Given the description of an element on the screen output the (x, y) to click on. 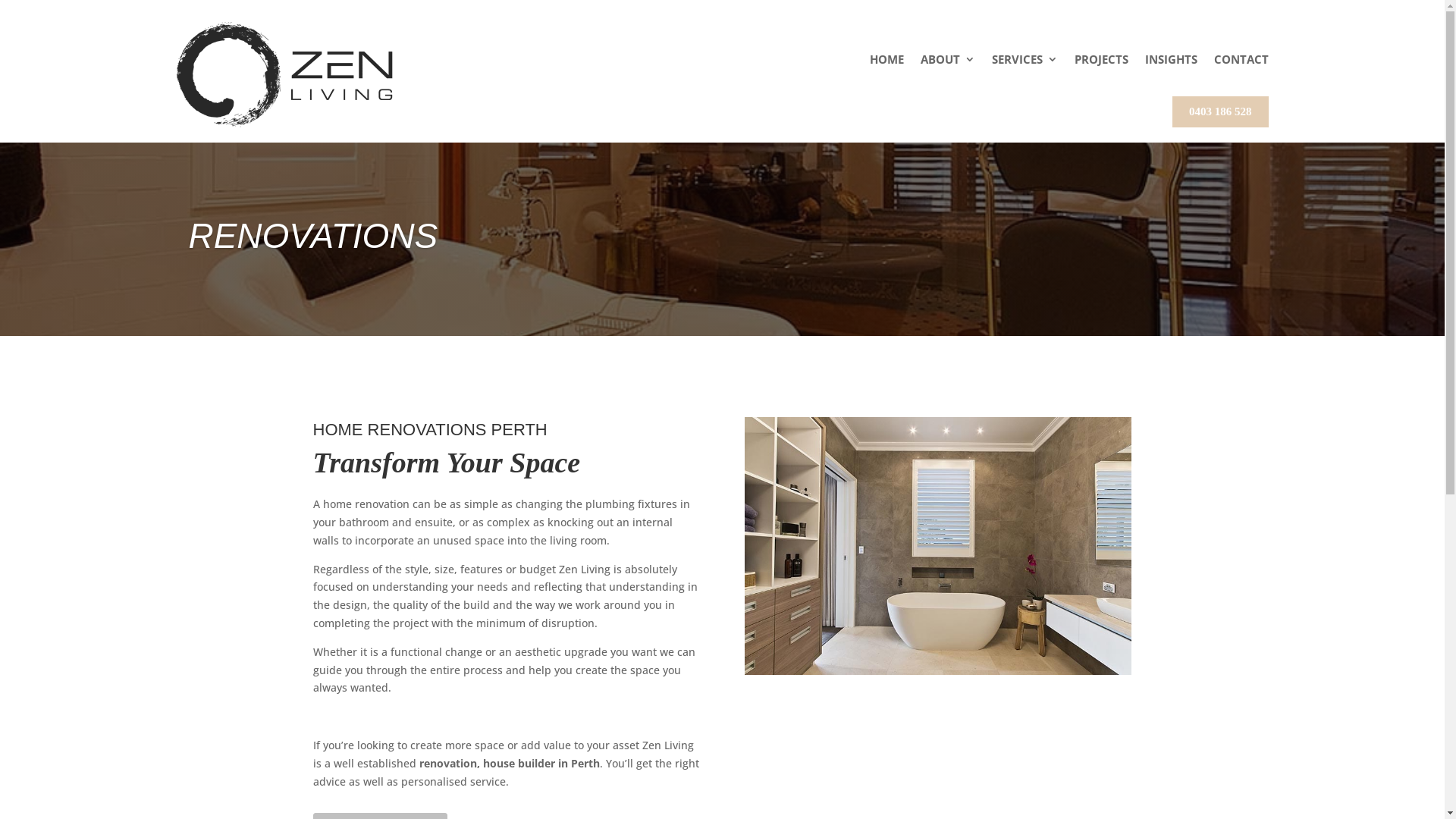
HOME Element type: text (886, 58)
PROJECTS Element type: text (1100, 58)
CONTACT Element type: text (1240, 58)
INSIGHTS Element type: text (1171, 58)
48A-Davy-Street-6 Element type: hover (937, 545)
ABOUT Element type: text (947, 58)
SERVICES Element type: text (1024, 58)
0403 186 528 Element type: text (1220, 111)
